Given the description of an element on the screen output the (x, y) to click on. 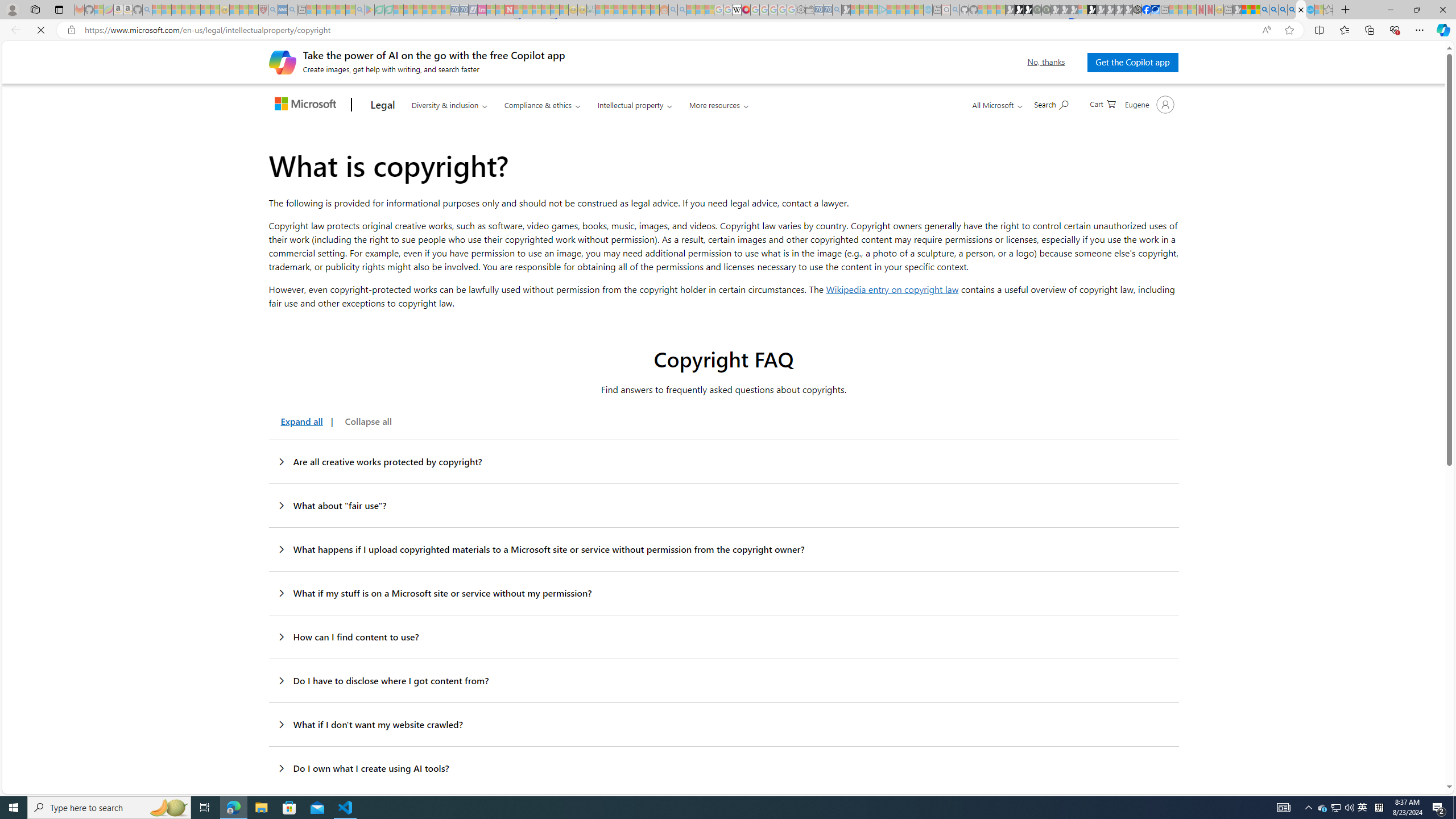
Do I own what I create using AI tools? (723, 768)
Services - Maintenance | Sky Blue Bikes - Sky Blue Bikes (1309, 9)
Expert Portfolios - Sleeping (627, 9)
MediaWiki (745, 9)
Settings - Sleeping (799, 9)
2009 Bing officially replaced Live Search on June 3 - Search (1272, 9)
Copyrights | Microsoft Legal (1300, 9)
Do I have to disclose where I got content from? (723, 680)
